Given the description of an element on the screen output the (x, y) to click on. 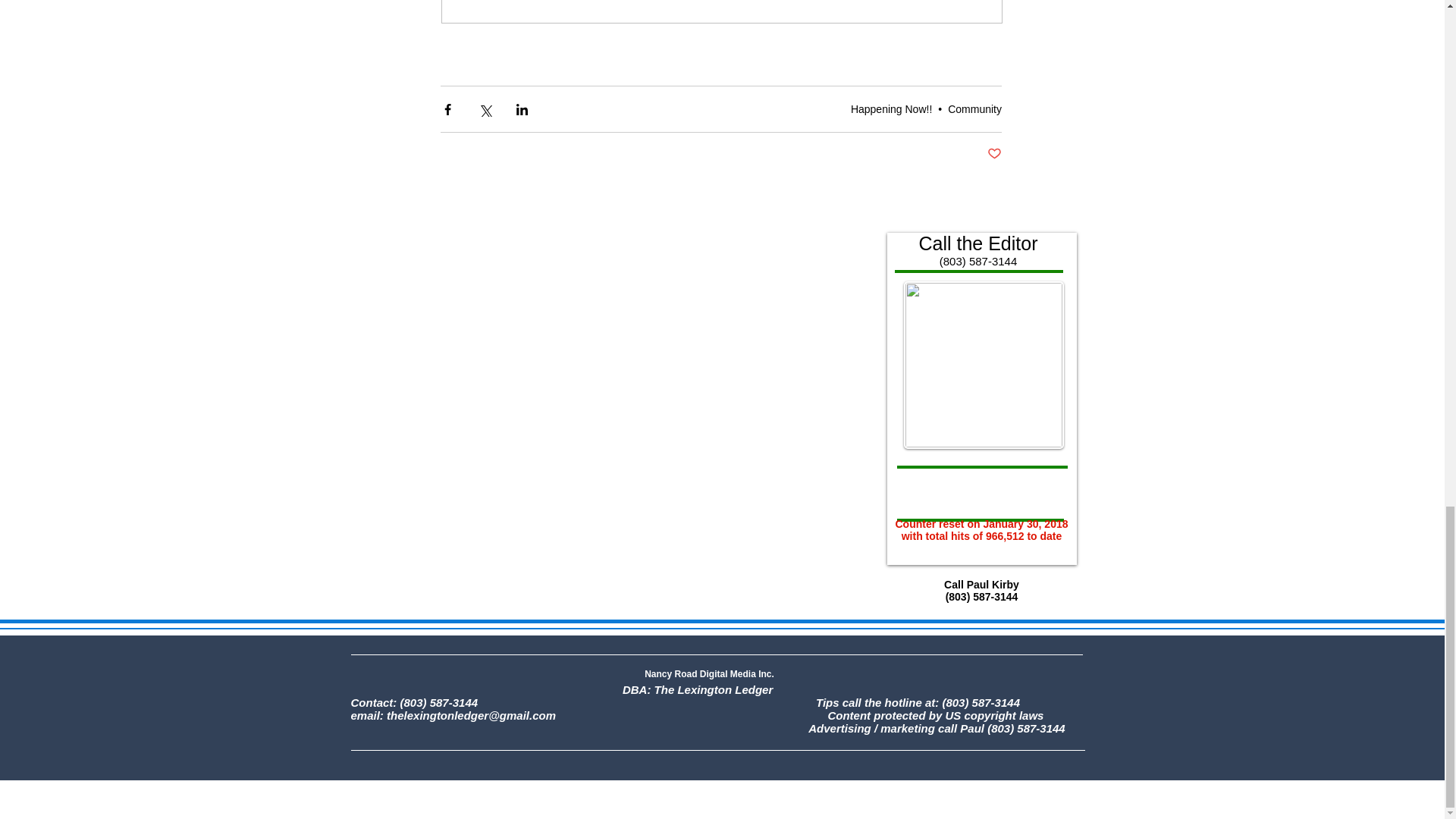
Community (974, 109)
Post not marked as liked (994, 154)
Happening Now!! (890, 109)
